Given the description of an element on the screen output the (x, y) to click on. 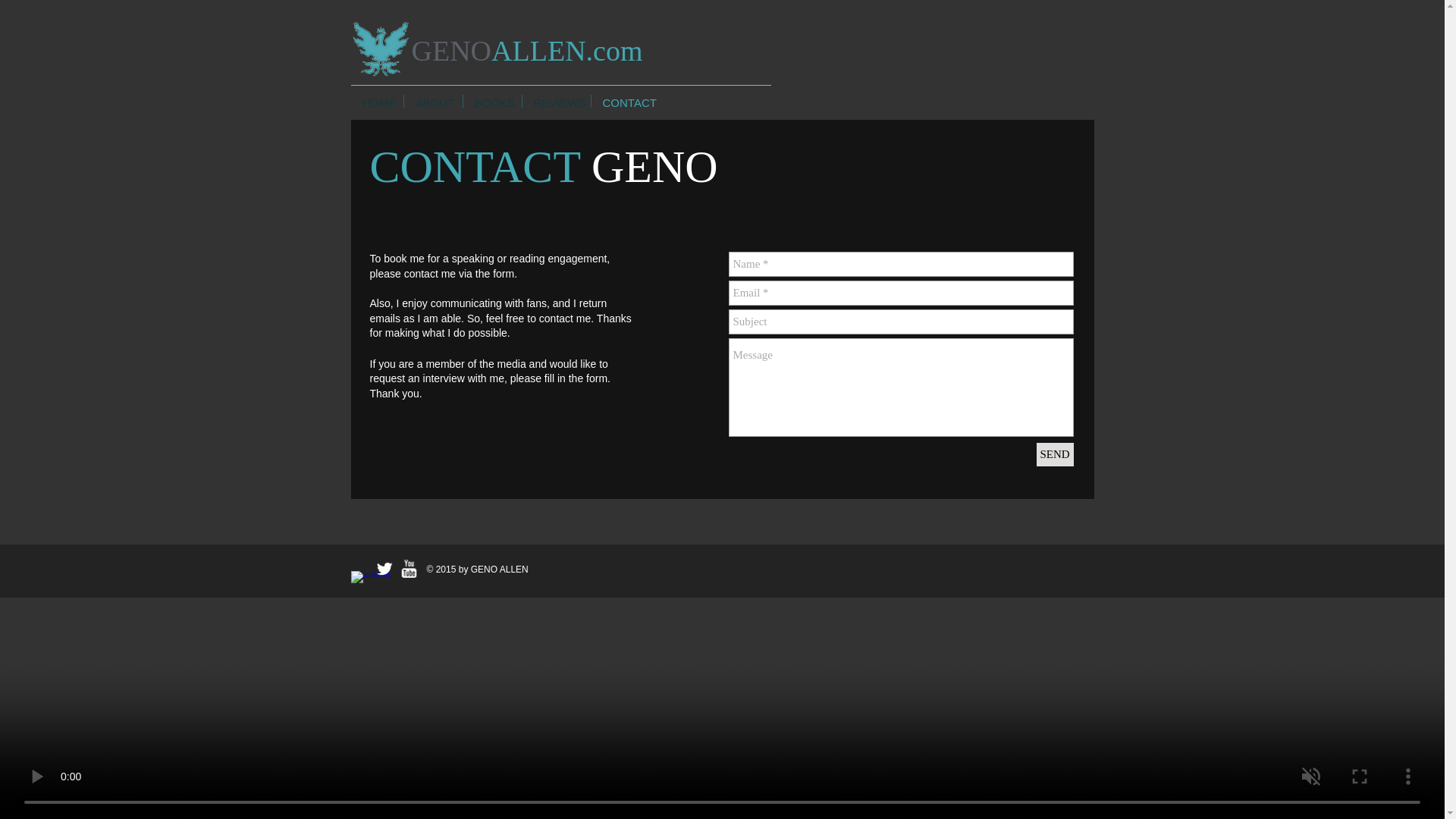
ABOUT (432, 101)
BOOKS (492, 101)
SEND (1054, 454)
REVIEWS (555, 101)
HOME (376, 101)
CONTACT (627, 101)
